Given the description of an element on the screen output the (x, y) to click on. 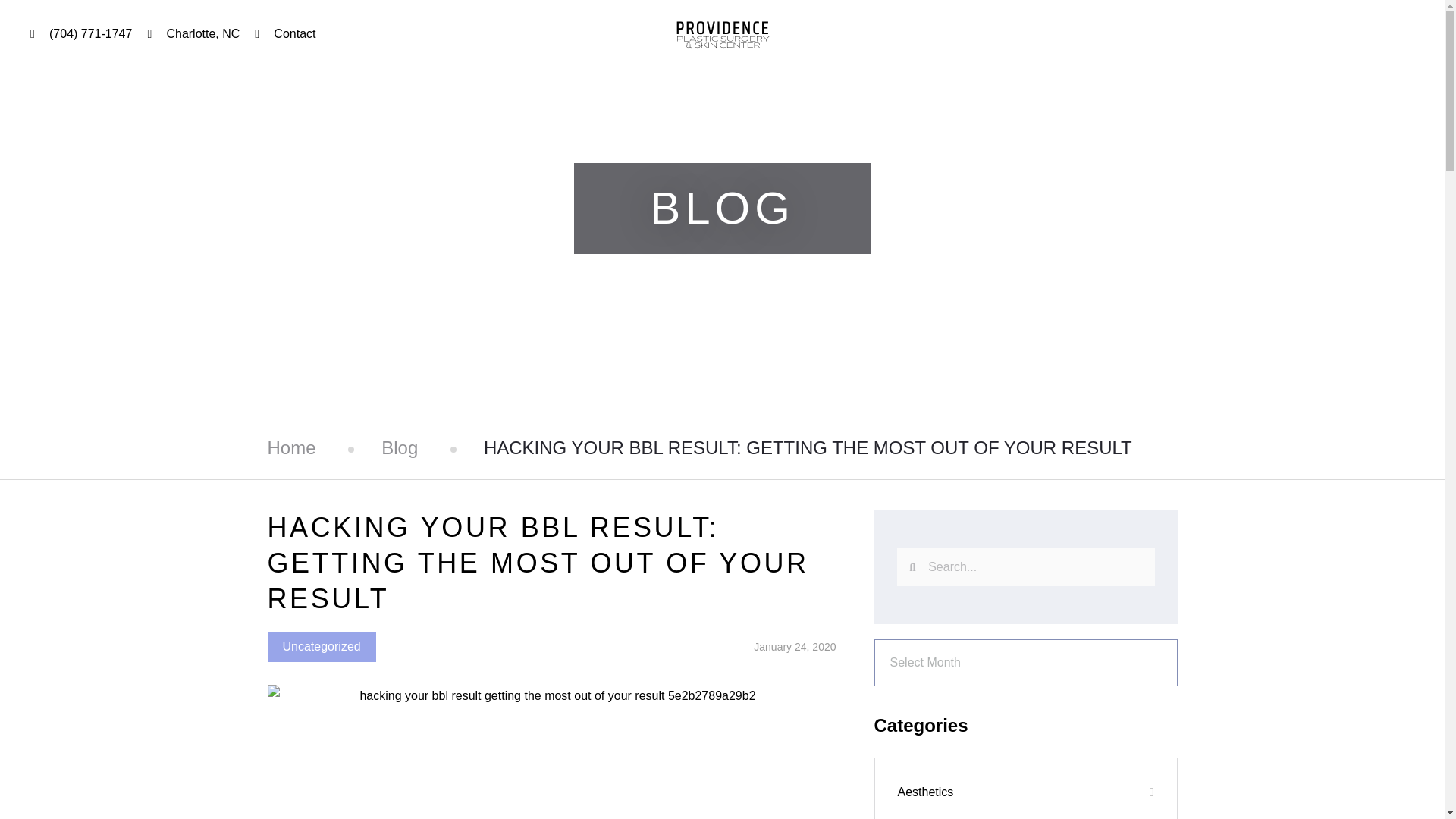
Contact (284, 33)
Search (1034, 566)
Charlotte, NC (193, 33)
